Given the description of an element on the screen output the (x, y) to click on. 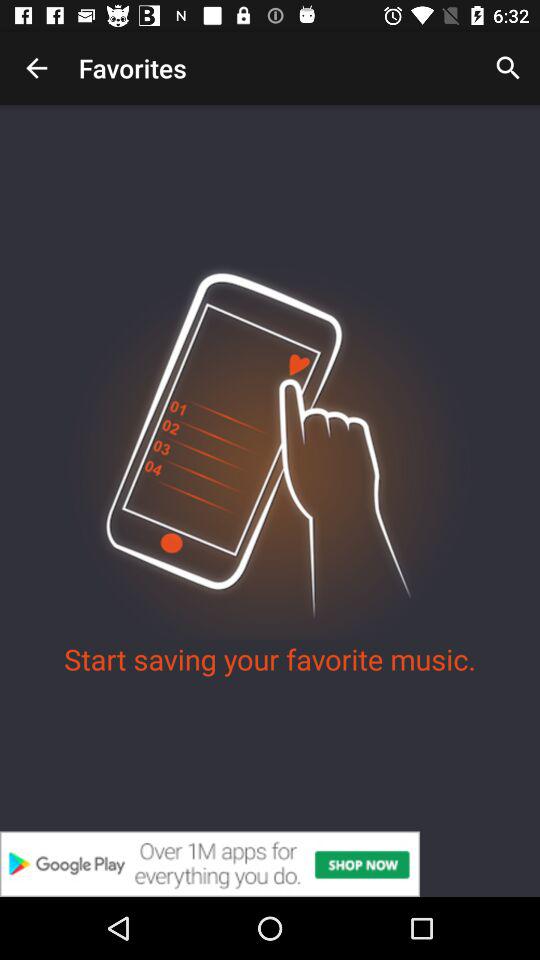
showing the advertisement (270, 864)
